Given the description of an element on the screen output the (x, y) to click on. 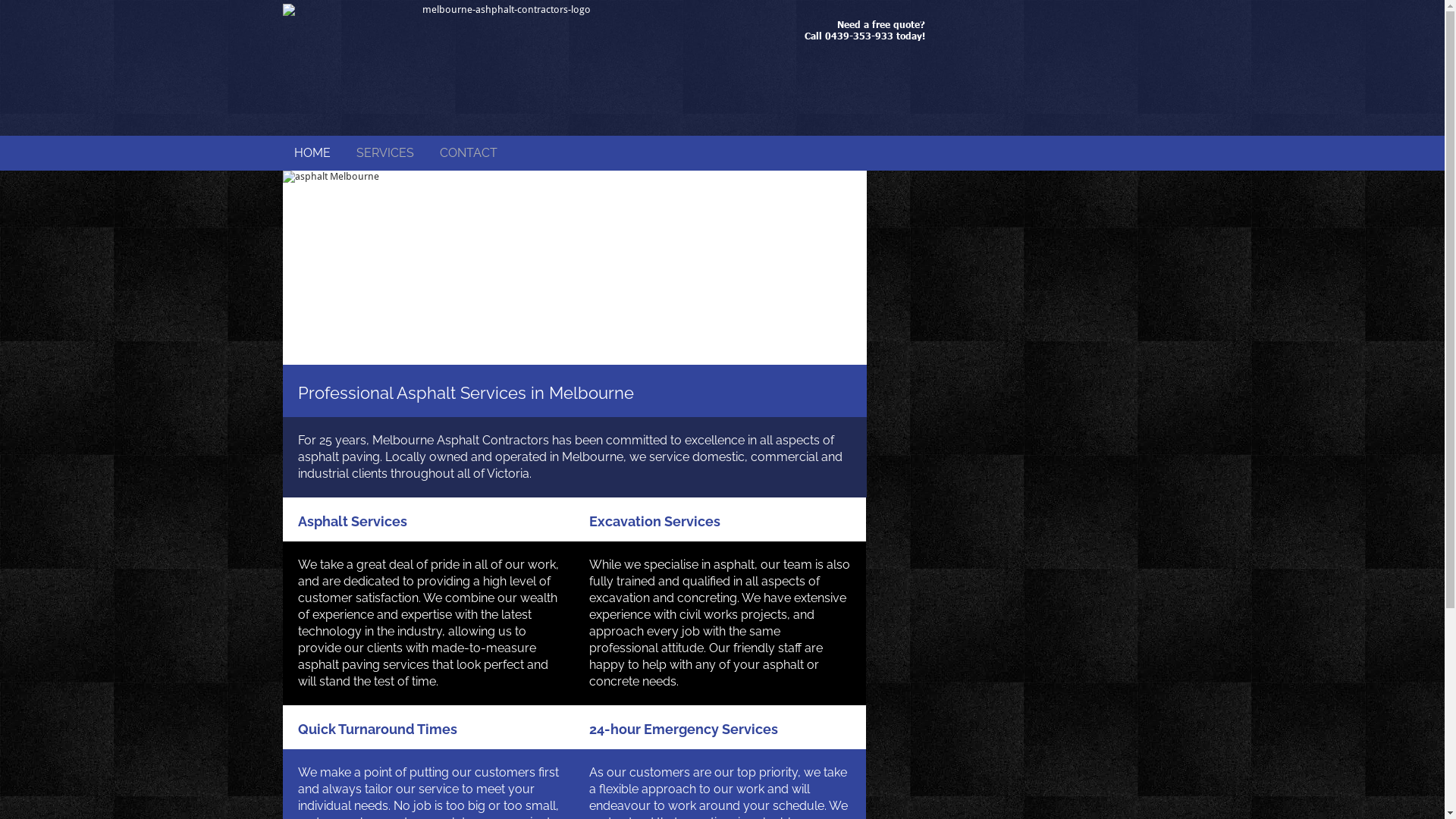
CONTACT Element type: text (468, 153)
HOME Element type: text (312, 153)
melbourne-ashphalt-contractors-parking Element type: hover (574, 267)
melbourne-ashphalt-contractors-logo Element type: hover (500, 67)
SERVICES Element type: text (385, 153)
